Given the description of an element on the screen output the (x, y) to click on. 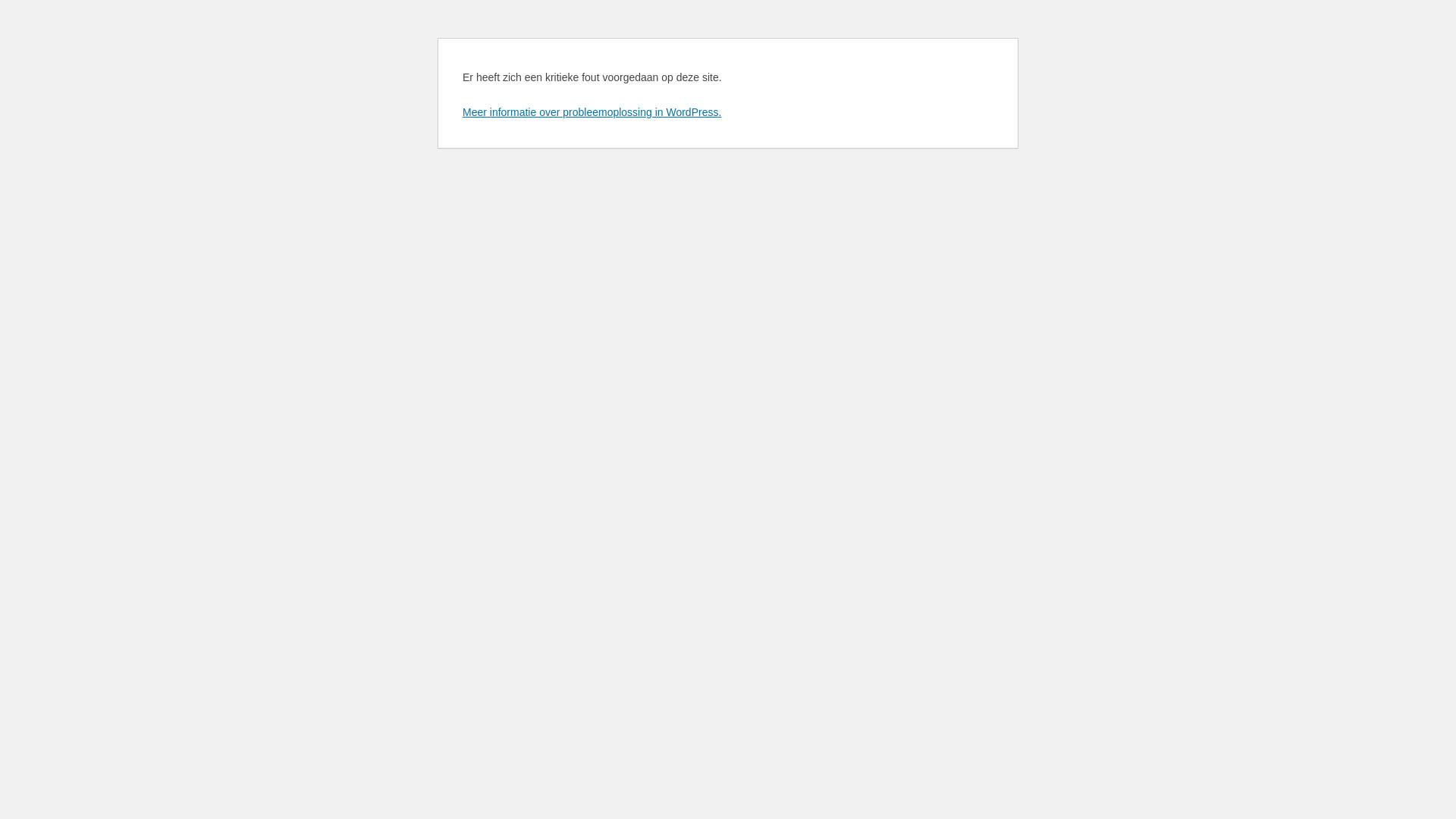
Meer informatie over probleemoplossing in WordPress. Element type: text (591, 112)
